Given the description of an element on the screen output the (x, y) to click on. 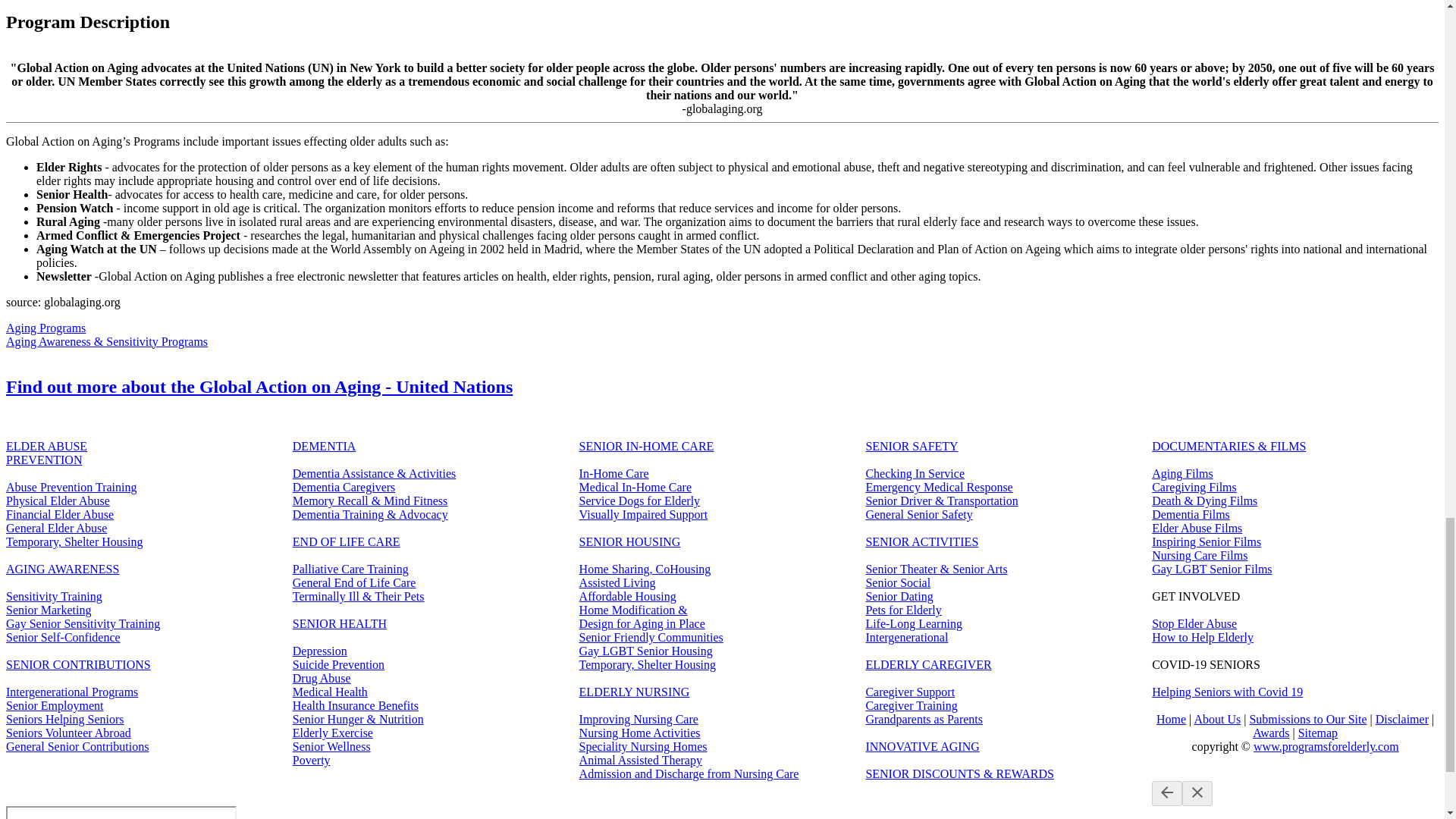
Aging Programs (45, 327)
Awards (1270, 732)
Sitemap (1318, 732)
